Given the description of an element on the screen output the (x, y) to click on. 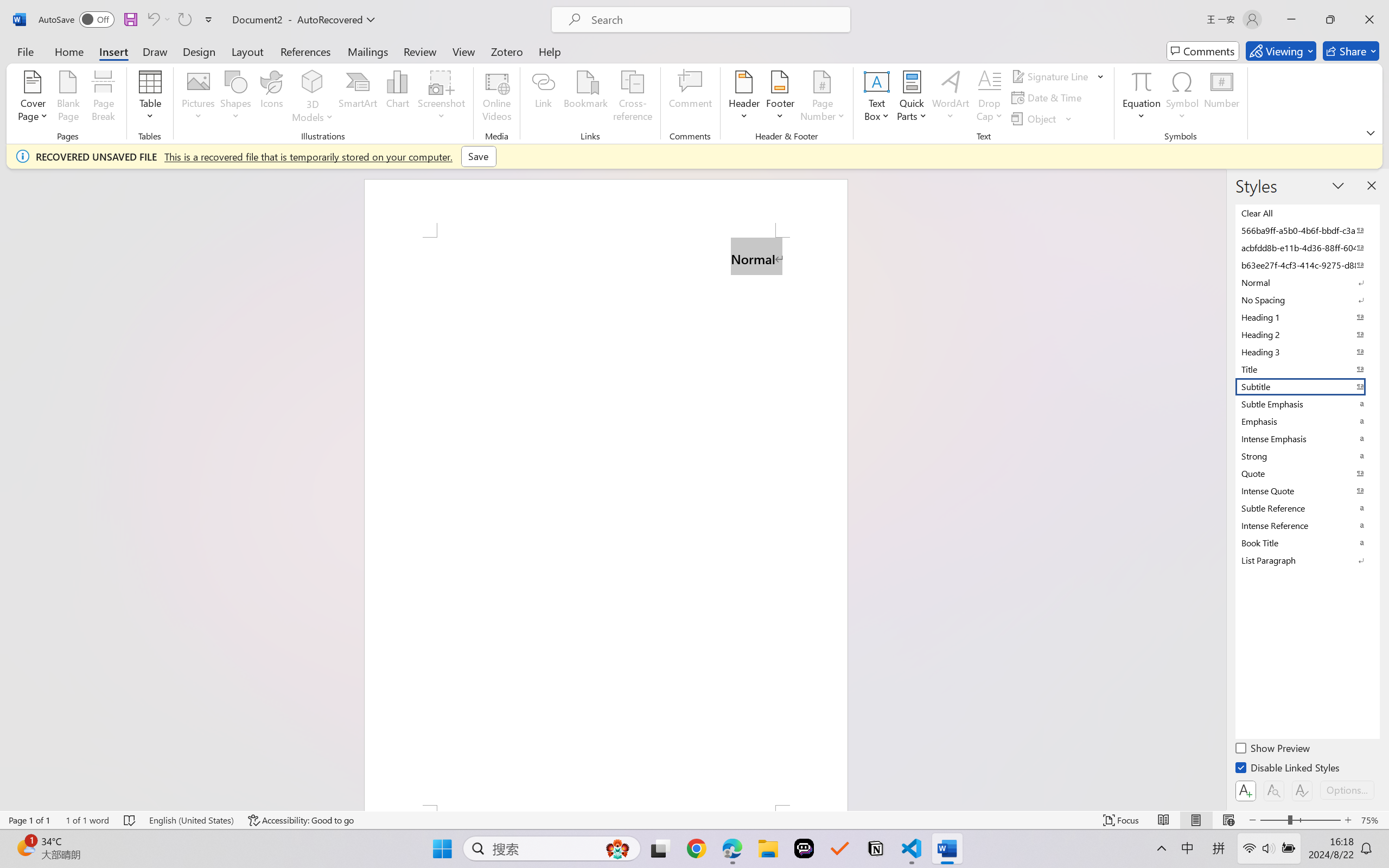
Footer (780, 97)
acbfdd8b-e11b-4d36-88ff-6049b138f862 (1306, 247)
Emphasis (1306, 421)
Disable Linked Styles (1287, 769)
Cover Page (33, 97)
Chart... (396, 97)
List Paragraph (1306, 560)
No Spacing (1306, 300)
